Given the description of an element on the screen output the (x, y) to click on. 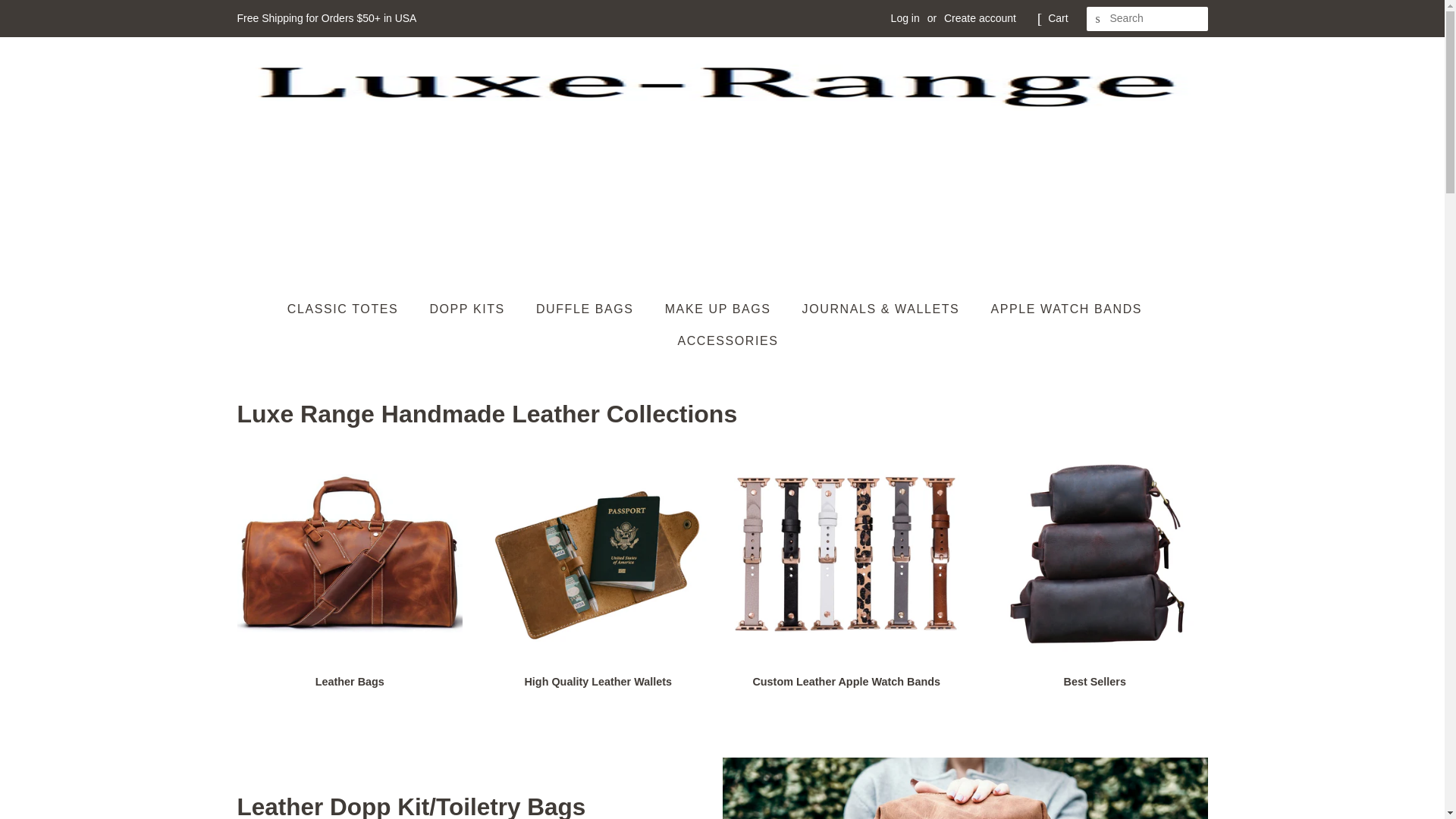
Cart (1057, 18)
CLASSIC TOTES (349, 308)
DOPP KITS (468, 308)
SEARCH (1097, 18)
DUFFLE BAGS (586, 308)
APPLE WATCH BANDS (1067, 308)
Create account (979, 18)
Log in (905, 18)
ACCESSORIES (721, 340)
MAKE UP BAGS (719, 308)
